Given the description of an element on the screen output the (x, y) to click on. 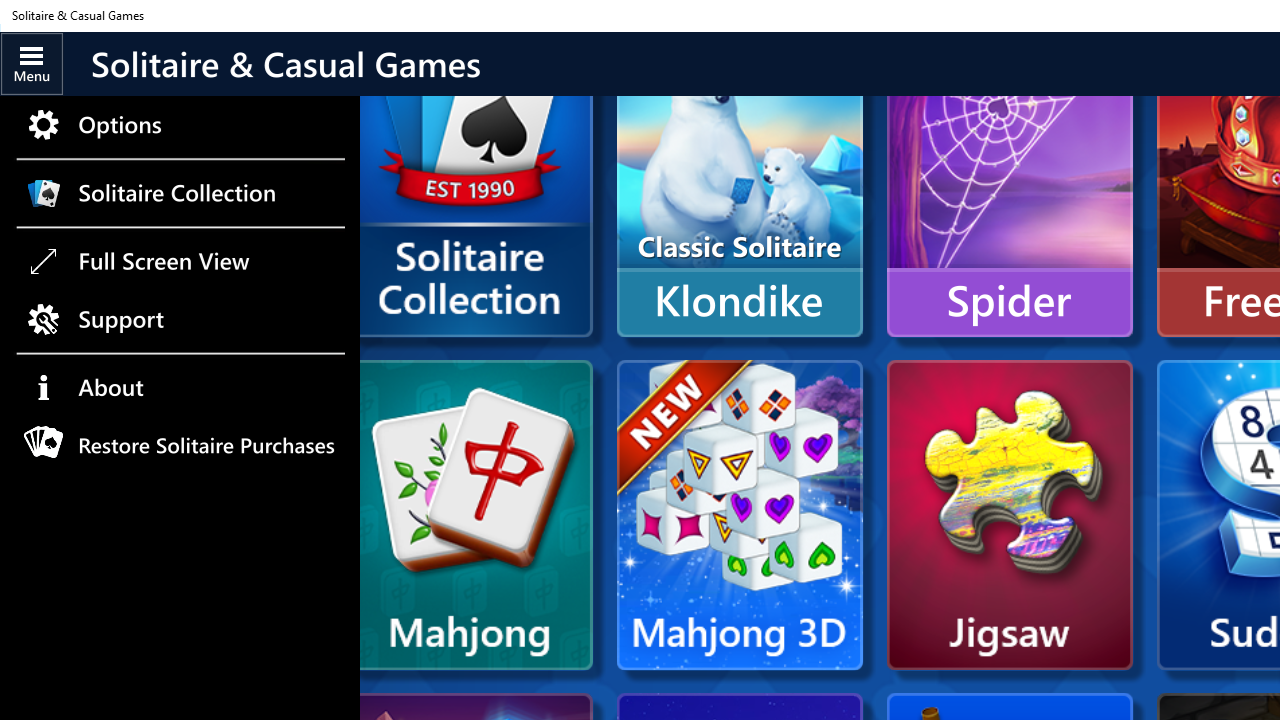
Classic Solitaire, Klondike (739, 181)
Microsoft Jigsaw (1009, 515)
Support (179, 319)
Solitaire Collection (179, 192)
Full Screen View (179, 260)
Mahjong 3D (739, 515)
About (179, 387)
Options (179, 124)
Restore Solitaire Purchases (179, 445)
Menu (32, 63)
Microsoft Solitaire Collection (475, 211)
Microsoft Mahjong (475, 515)
Spider (1009, 181)
